Given the description of an element on the screen output the (x, y) to click on. 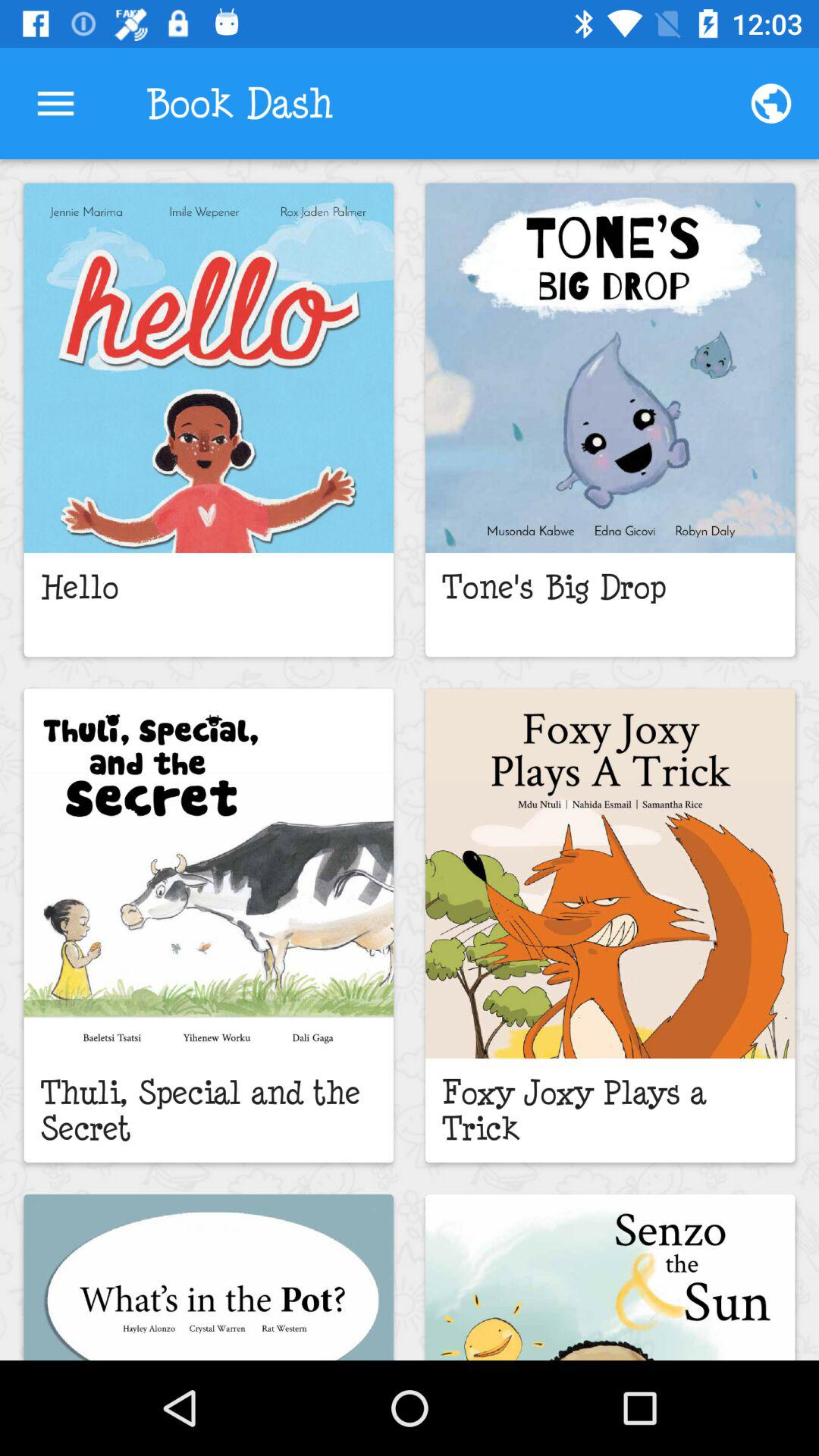
launch item to the right of the book dash (771, 103)
